Given the description of an element on the screen output the (x, y) to click on. 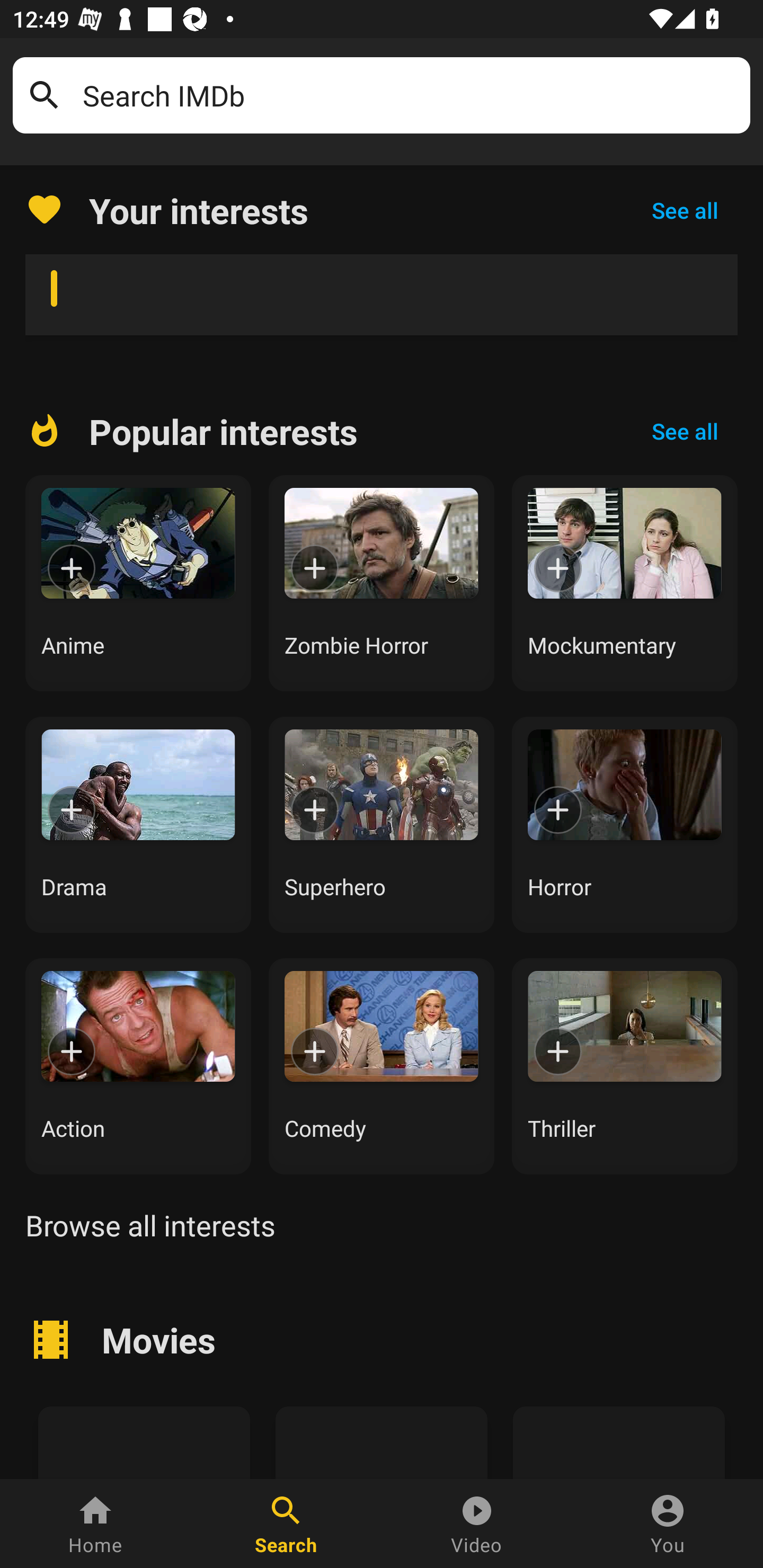
Search IMDb (410, 95)
See all (684, 209)
See all (684, 430)
Anime (138, 583)
Zombie Horror (381, 583)
Mockumentary (624, 583)
Drama (138, 824)
Superhero (381, 824)
Horror (624, 824)
Action (138, 1065)
Comedy (381, 1065)
Thriller (624, 1065)
Browse all interests (150, 1224)
Home (95, 1523)
Video (476, 1523)
You (667, 1523)
